Given the description of an element on the screen output the (x, y) to click on. 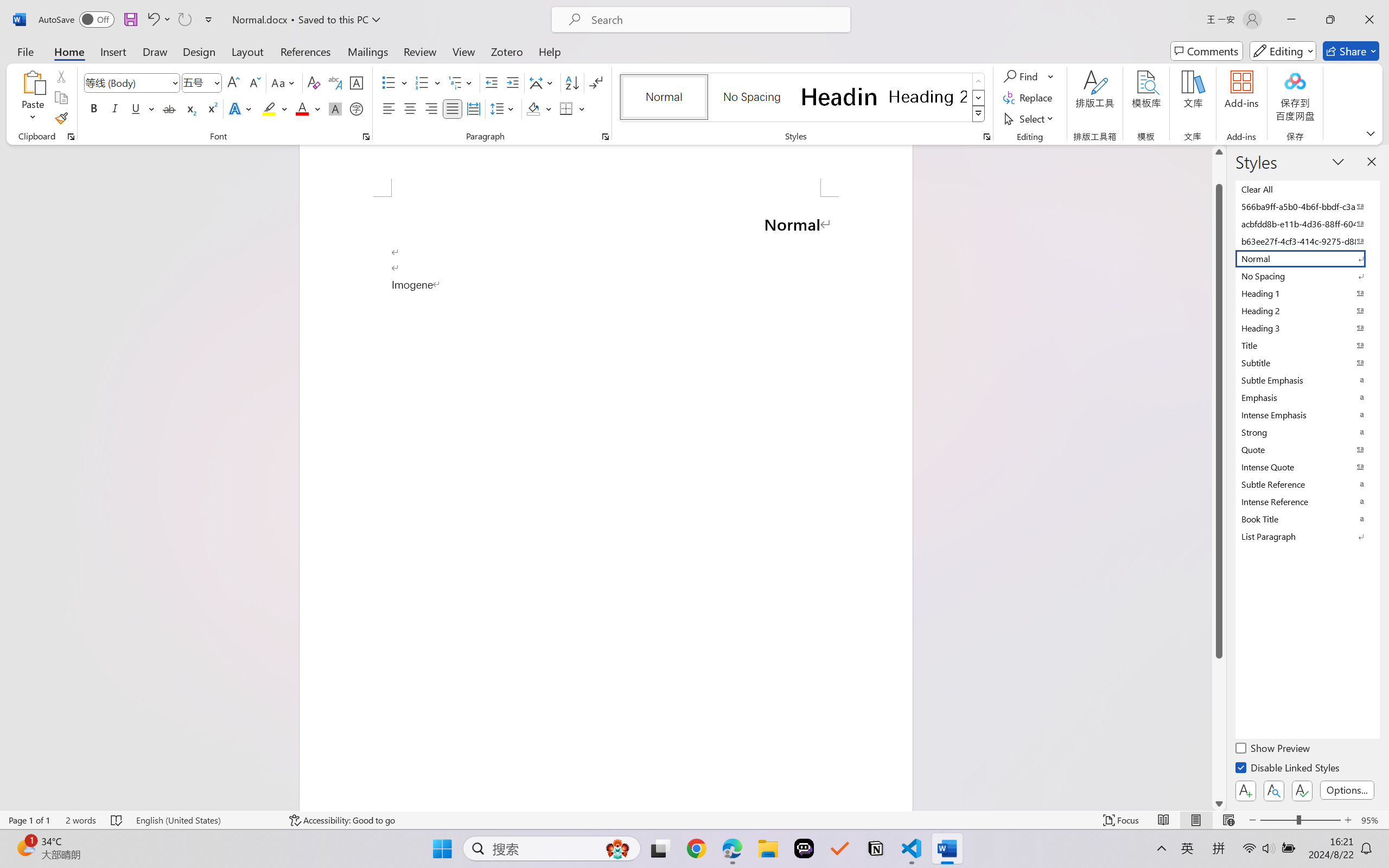
Subscript (190, 108)
Align Left (388, 108)
Line up (1219, 151)
Open (215, 82)
Page down (1219, 727)
Options... (1346, 789)
Clear All (1306, 188)
Page Number Page 1 of 1 (29, 819)
